Given the description of an element on the screen output the (x, y) to click on. 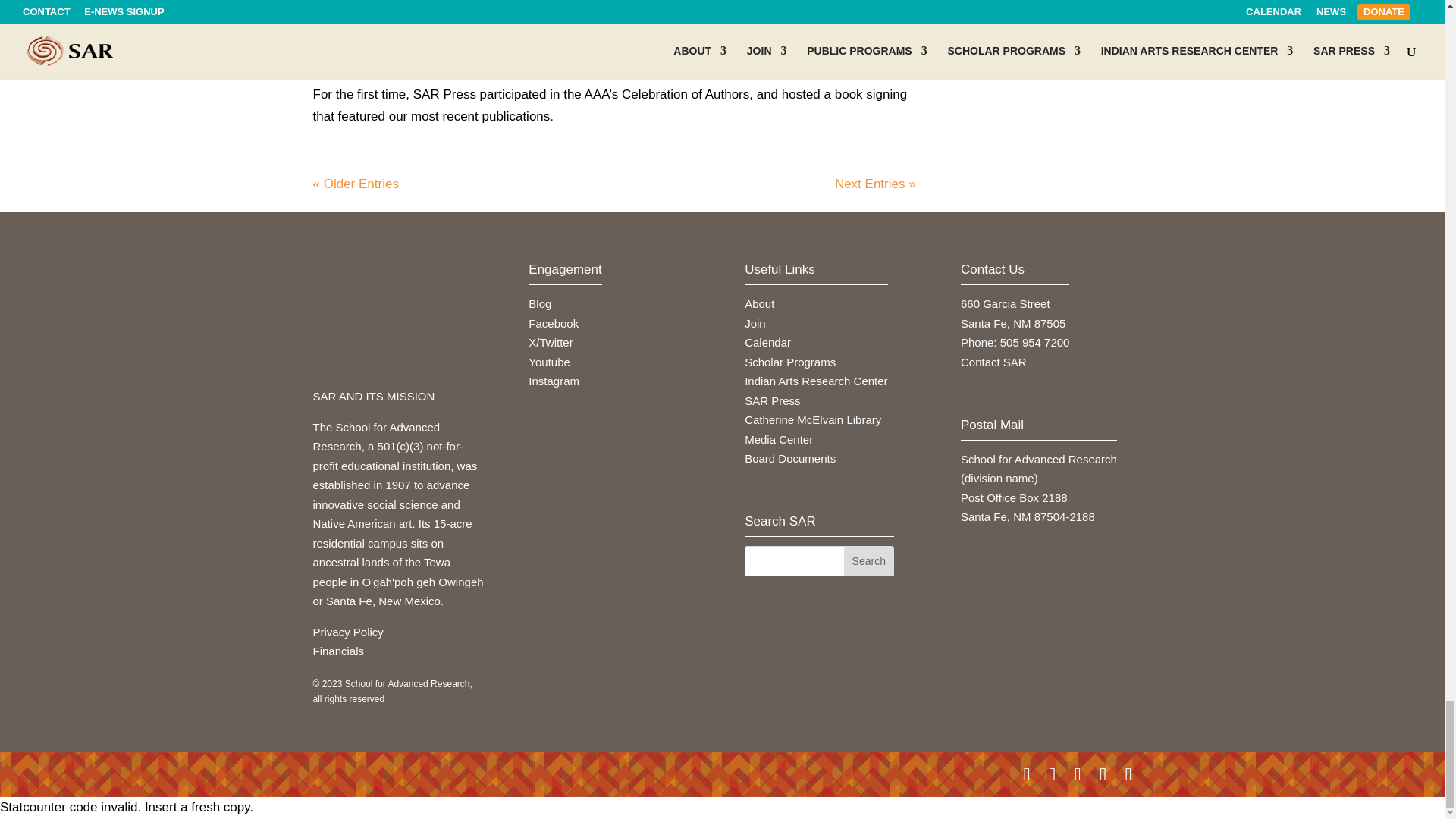
Search (868, 561)
Posts by Sarah Soliz (366, 56)
